Given the description of an element on the screen output the (x, y) to click on. 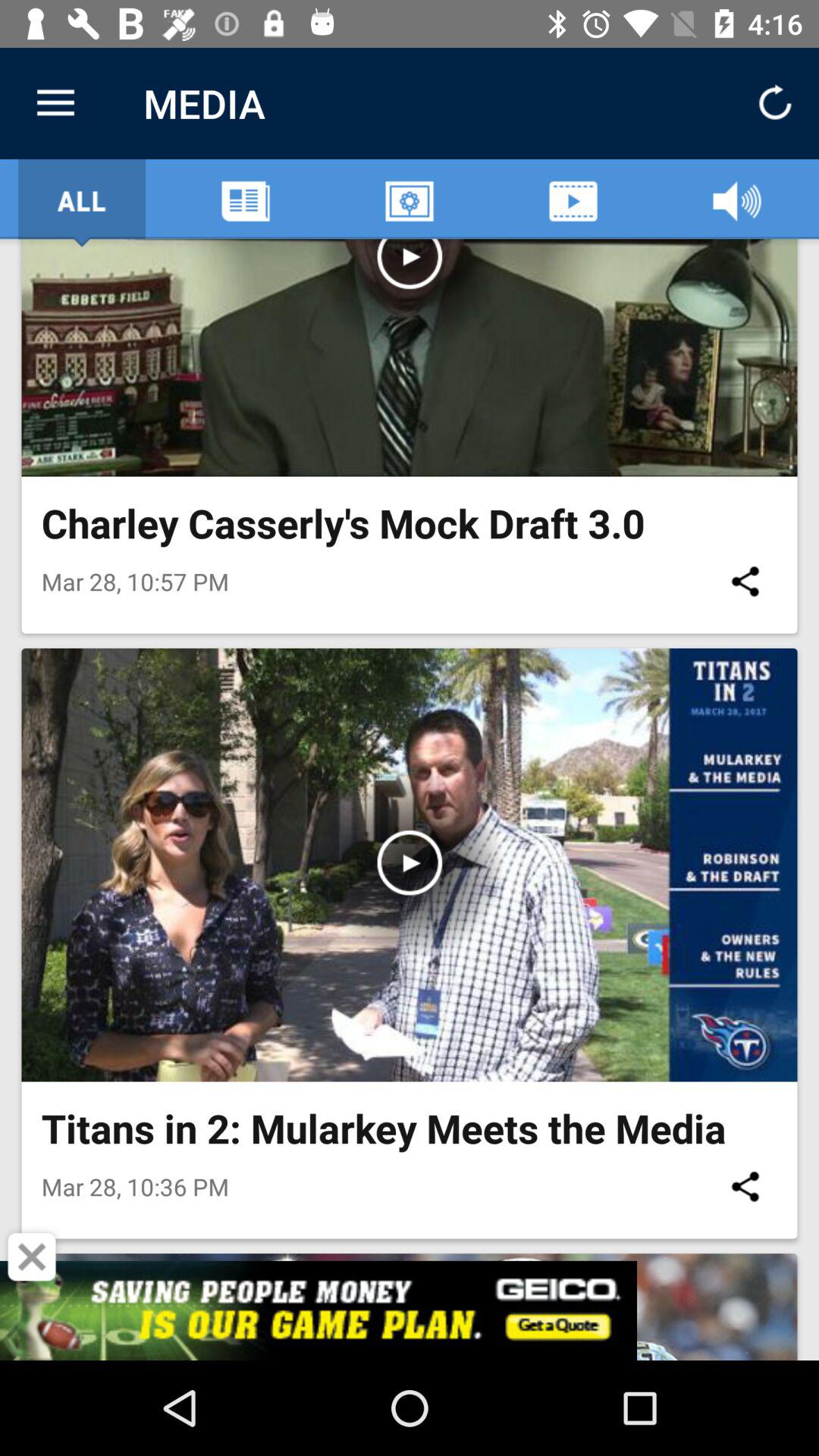
click item below the mar 28 10 item (31, 1256)
